Given the description of an element on the screen output the (x, y) to click on. 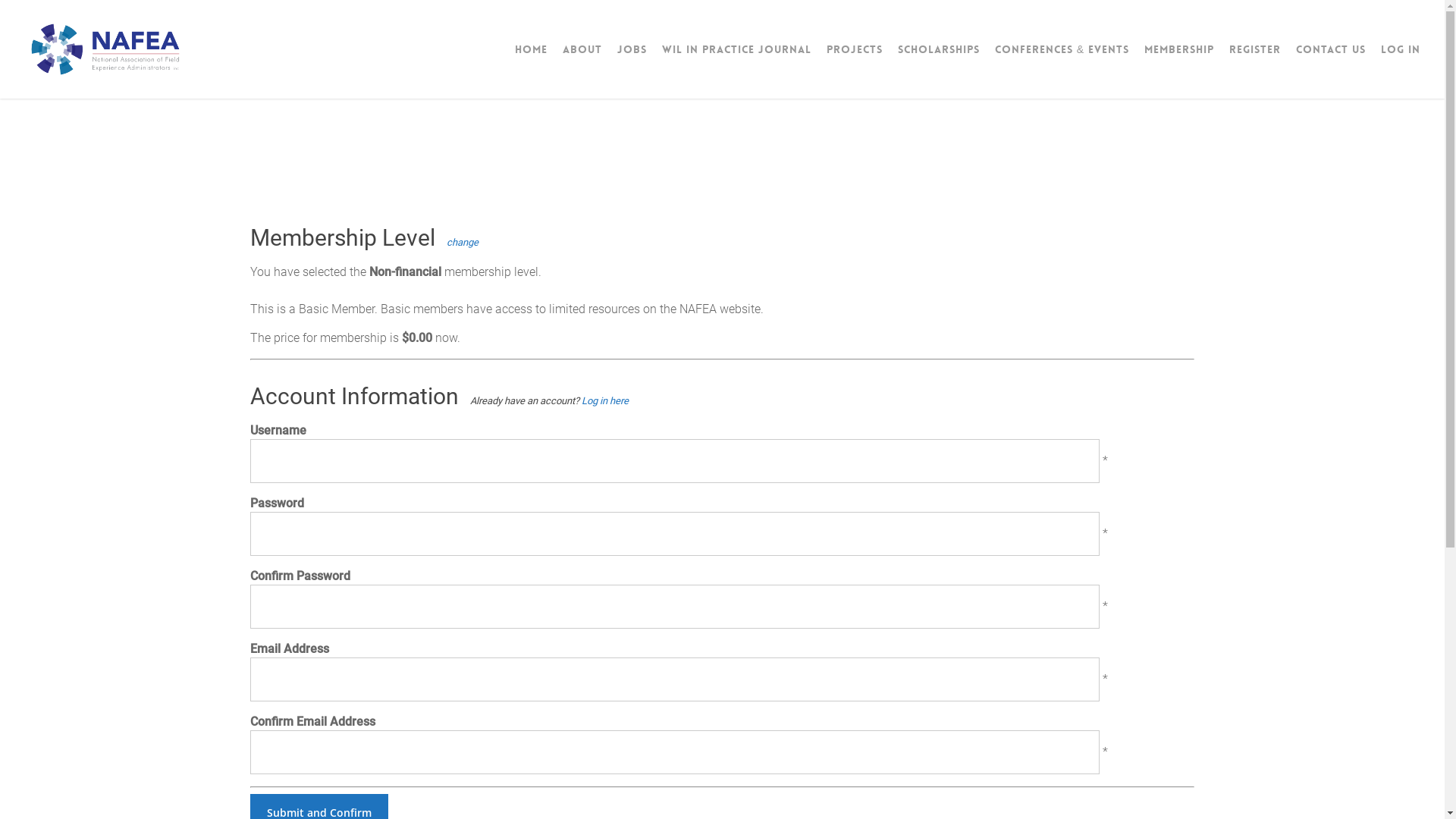
Contact Us Element type: text (1330, 48)
Events Element type: text (721, 697)
Register Element type: text (1254, 48)
About Element type: text (582, 48)
Register Element type: text (1043, 674)
WIL in Practice Journal Element type: text (736, 48)
Projects Element type: text (854, 48)
change Element type: text (462, 241)
Contact Us Element type: text (721, 674)
Jobs Element type: text (631, 48)
Log In Element type: text (1400, 48)
Register Element type: text (721, 742)
Scholarships Element type: text (938, 48)
Conferences & Events Element type: text (1061, 48)
Membership Element type: text (721, 720)
Log In Element type: text (1043, 651)
Home Element type: text (531, 48)
Membership Element type: text (1178, 48)
Learn More Element type: text (280, 715)
Home Element type: text (721, 651)
Log in here Element type: text (604, 400)
